Given the description of an element on the screen output the (x, y) to click on. 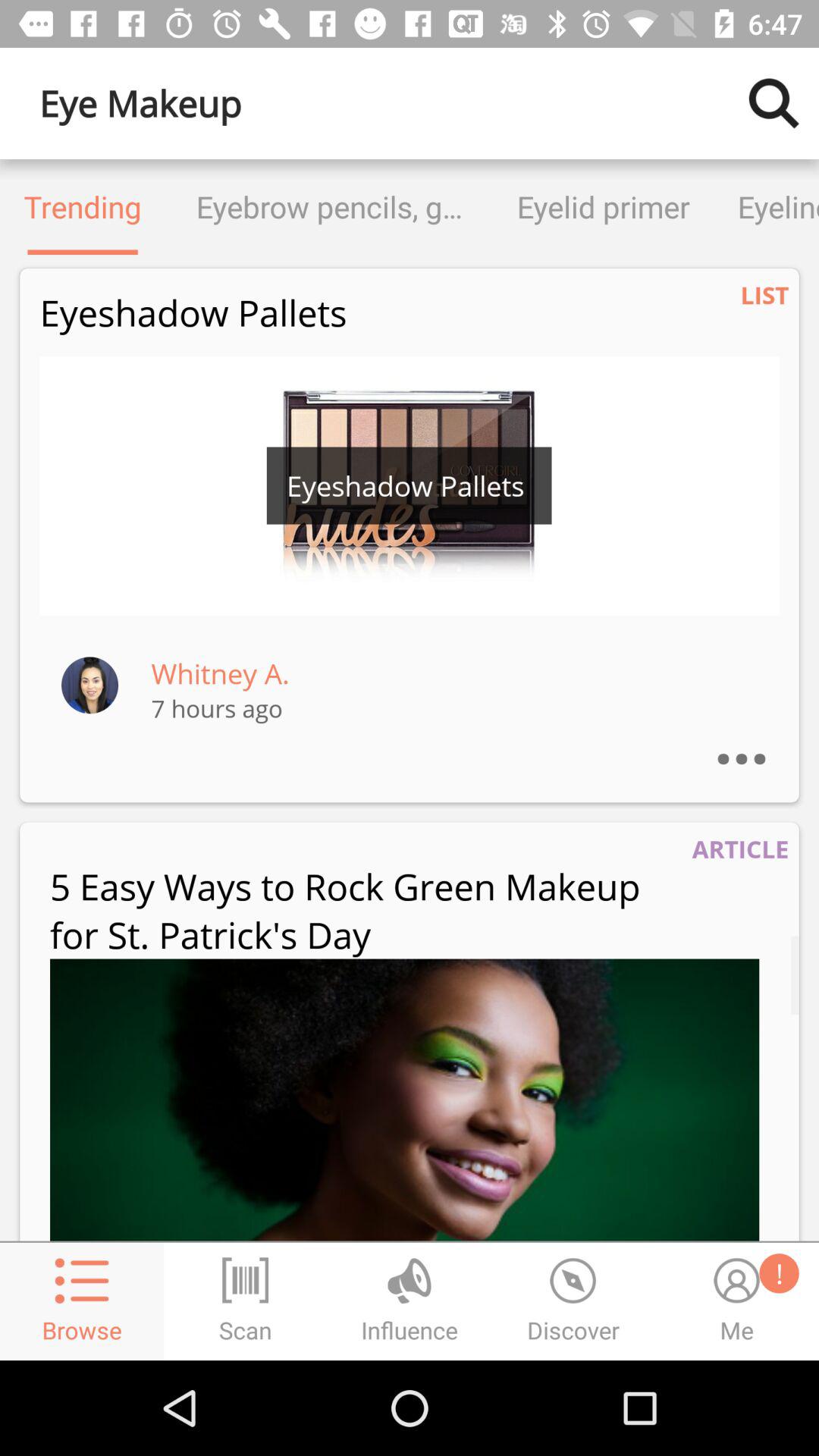
click item next to the article item (364, 910)
